Given the description of an element on the screen output the (x, y) to click on. 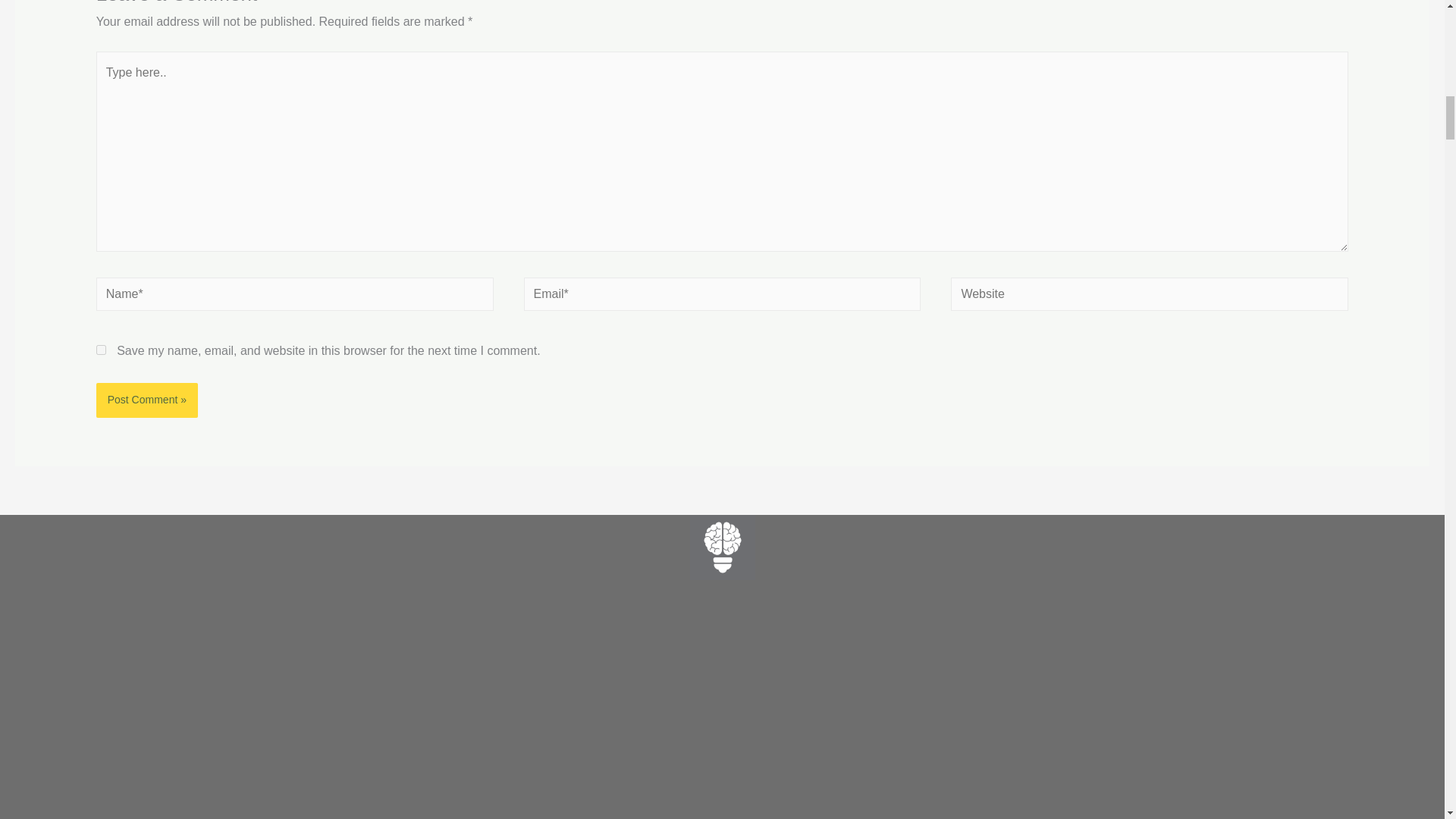
yes (101, 349)
